Given the description of an element on the screen output the (x, y) to click on. 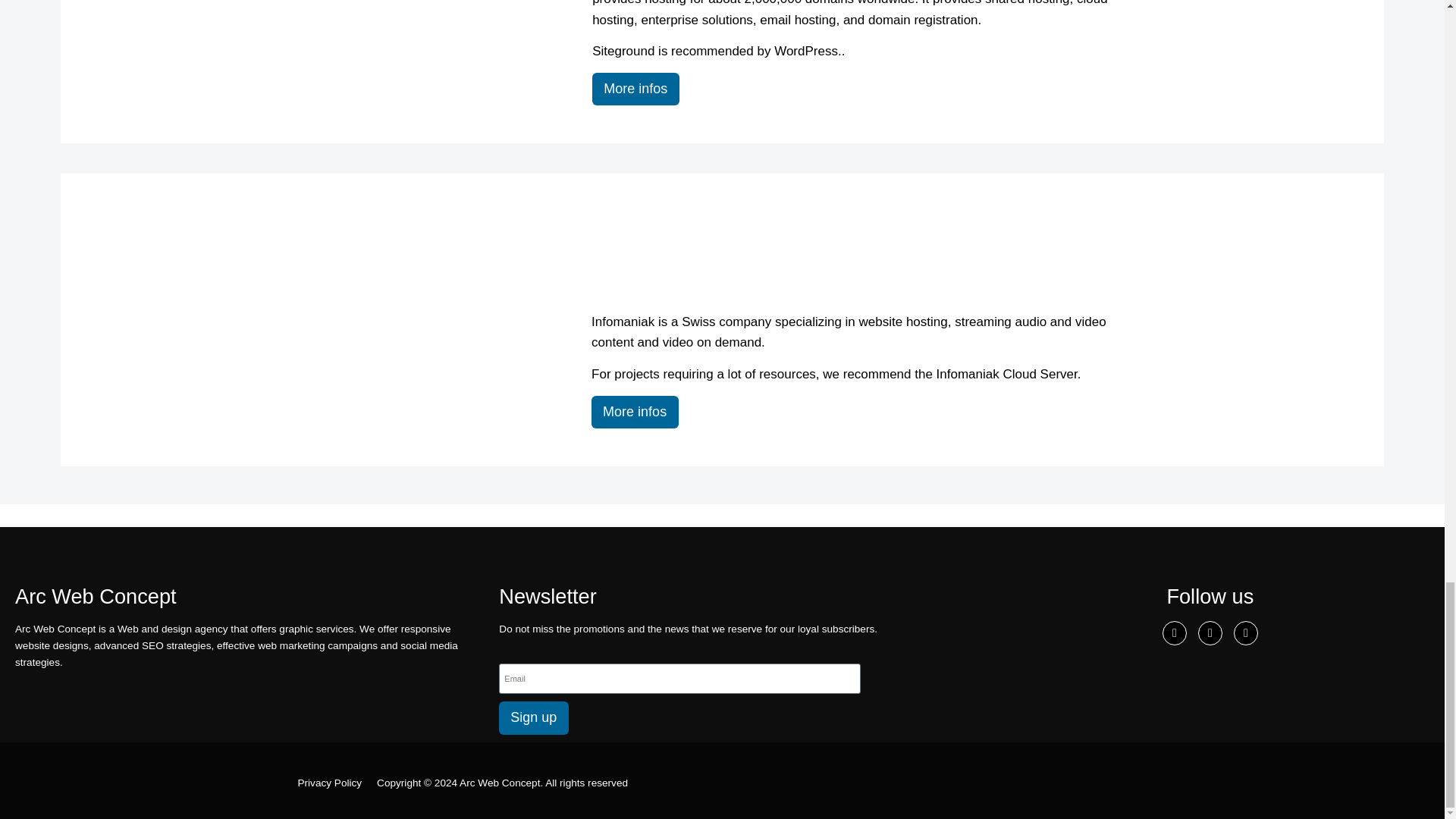
Privacy Policy (329, 782)
Sign up (534, 717)
More infos (635, 88)
More infos (634, 411)
